Given the description of an element on the screen output the (x, y) to click on. 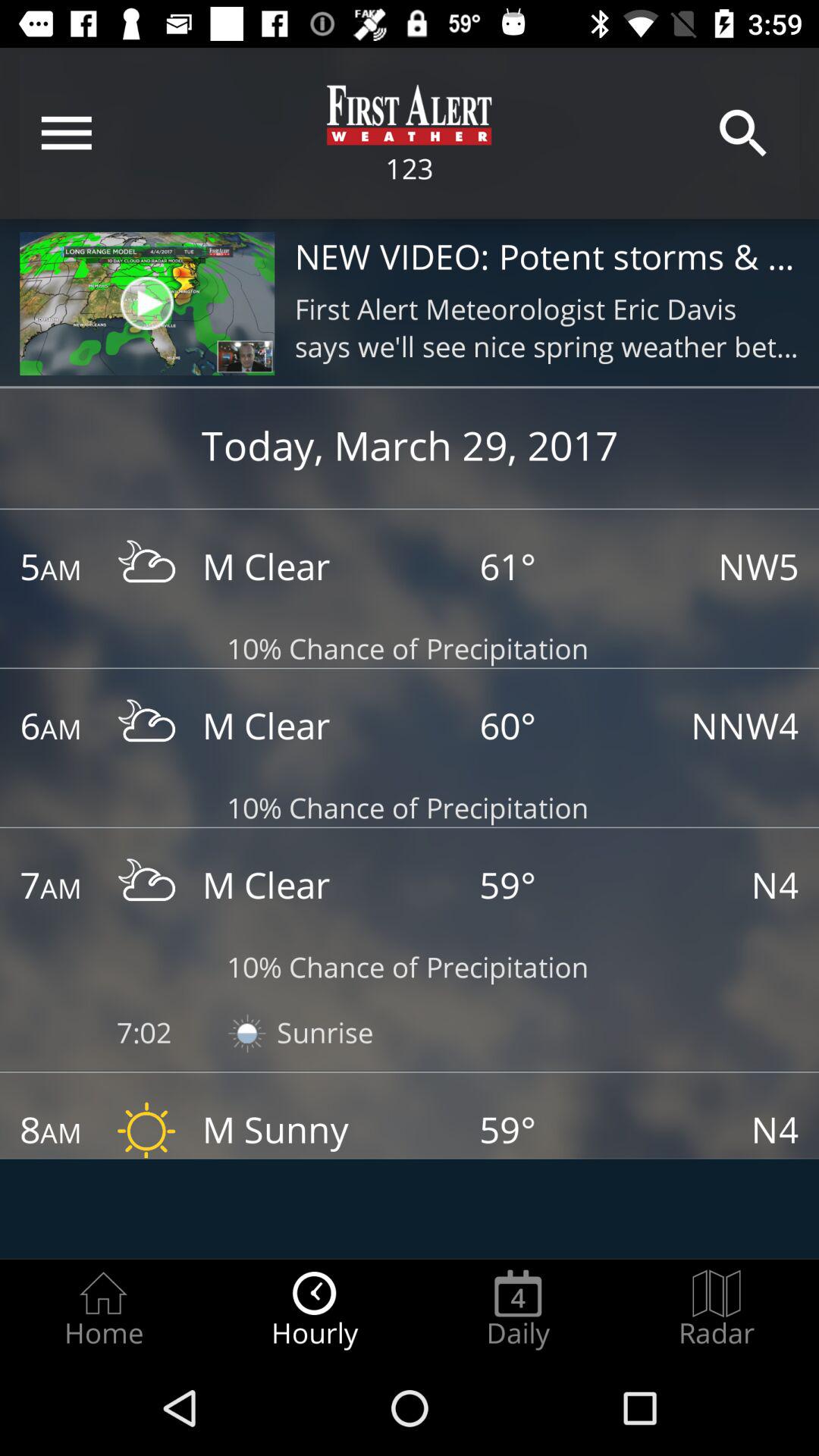
launch home icon (103, 1309)
